Given the description of an element on the screen output the (x, y) to click on. 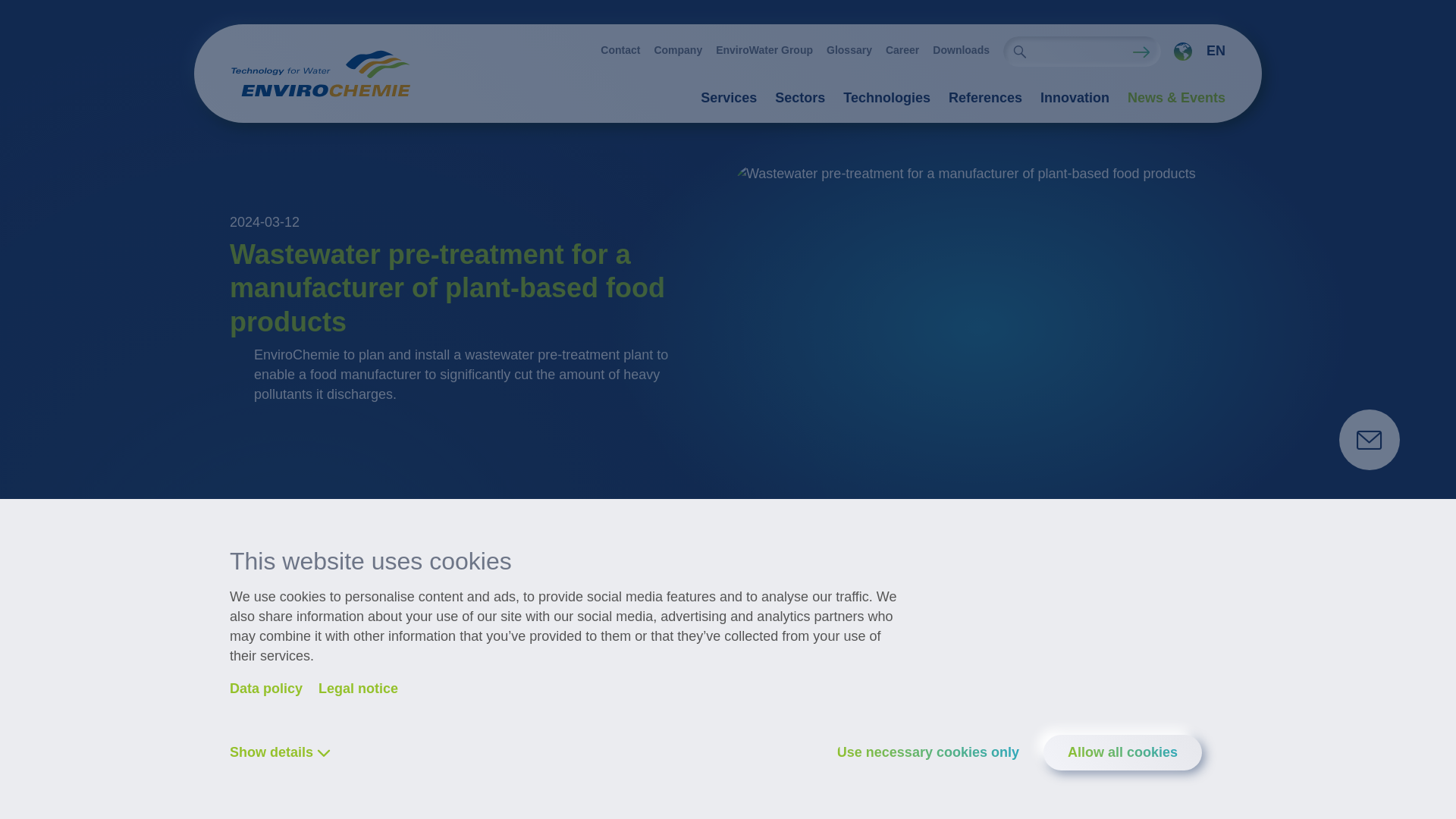
Legal notice (357, 688)
EnviroWater Group (764, 49)
Show details (282, 752)
Use necessary cookies only (940, 752)
Allow all cookies (1122, 752)
Contact (619, 49)
Company (677, 49)
Data policy (266, 688)
